Given the description of an element on the screen output the (x, y) to click on. 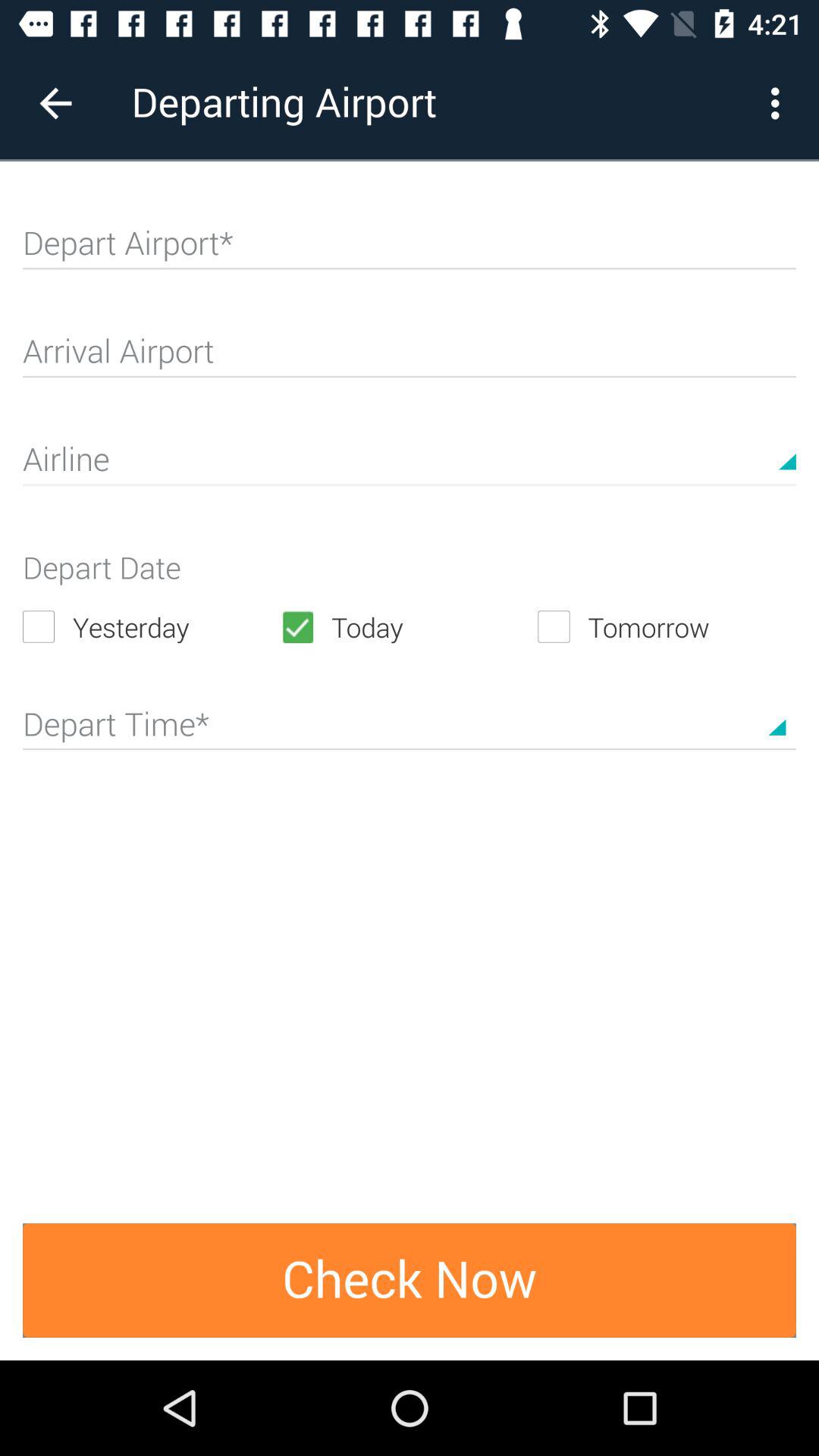
swipe until the yesterday item (151, 626)
